Given the description of an element on the screen output the (x, y) to click on. 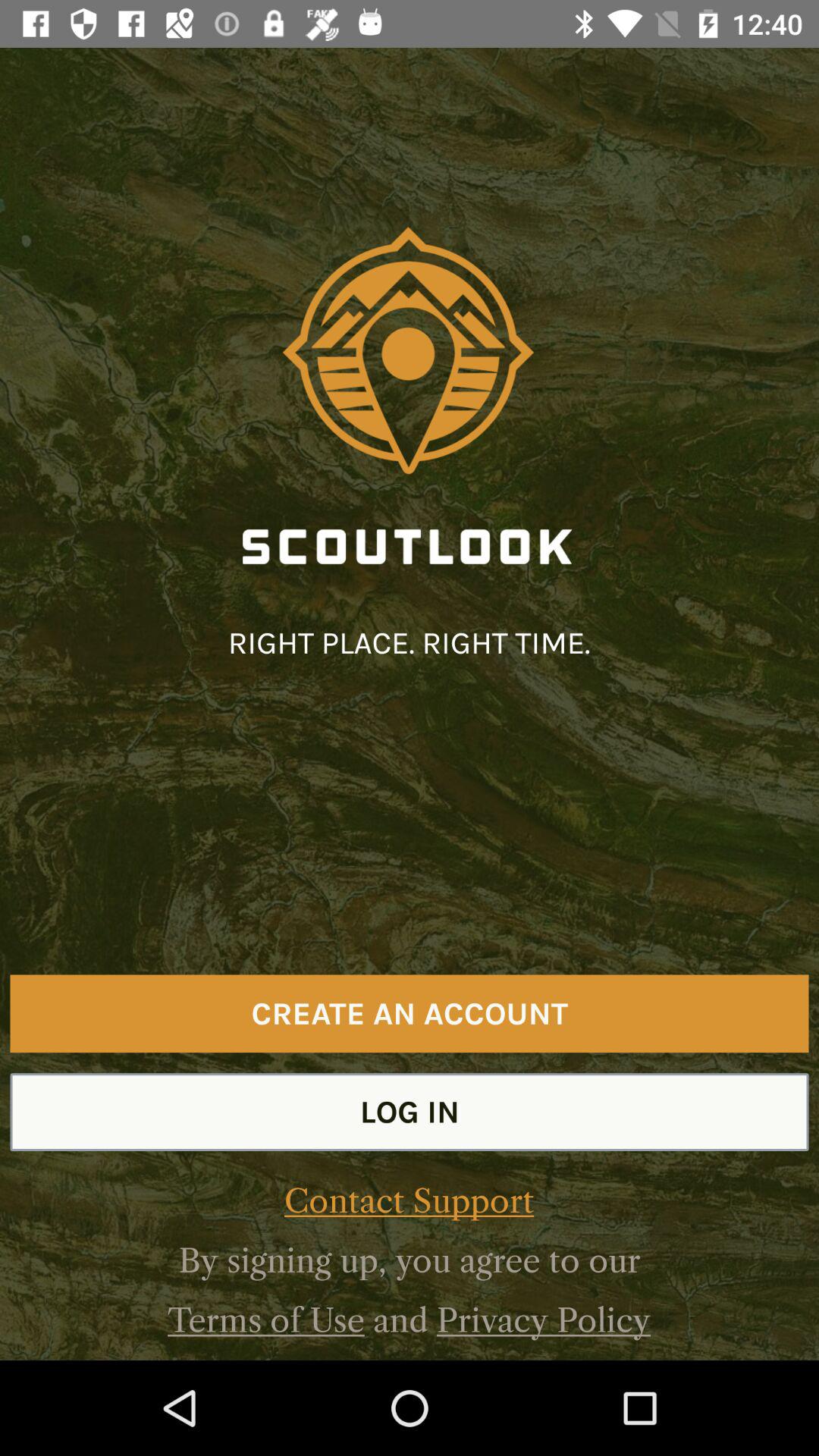
turn on item to the right of the  and  item (543, 1320)
